Given the description of an element on the screen output the (x, y) to click on. 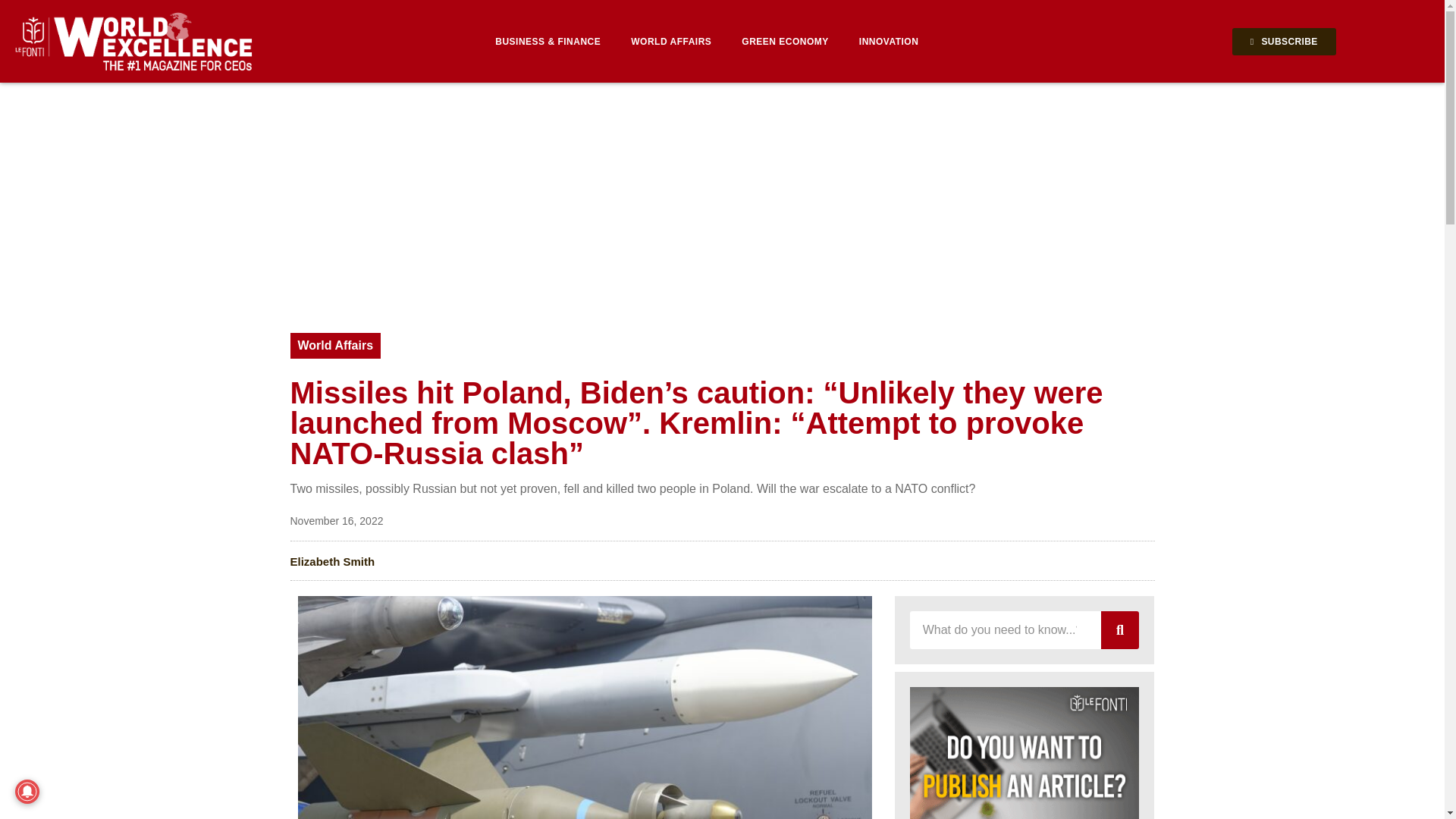
INNOVATION (889, 41)
GREEN ECONOMY (785, 41)
World Affairs (334, 345)
WORLD AFFAIRS (670, 41)
SUBSCRIBE (1283, 41)
